Given the description of an element on the screen output the (x, y) to click on. 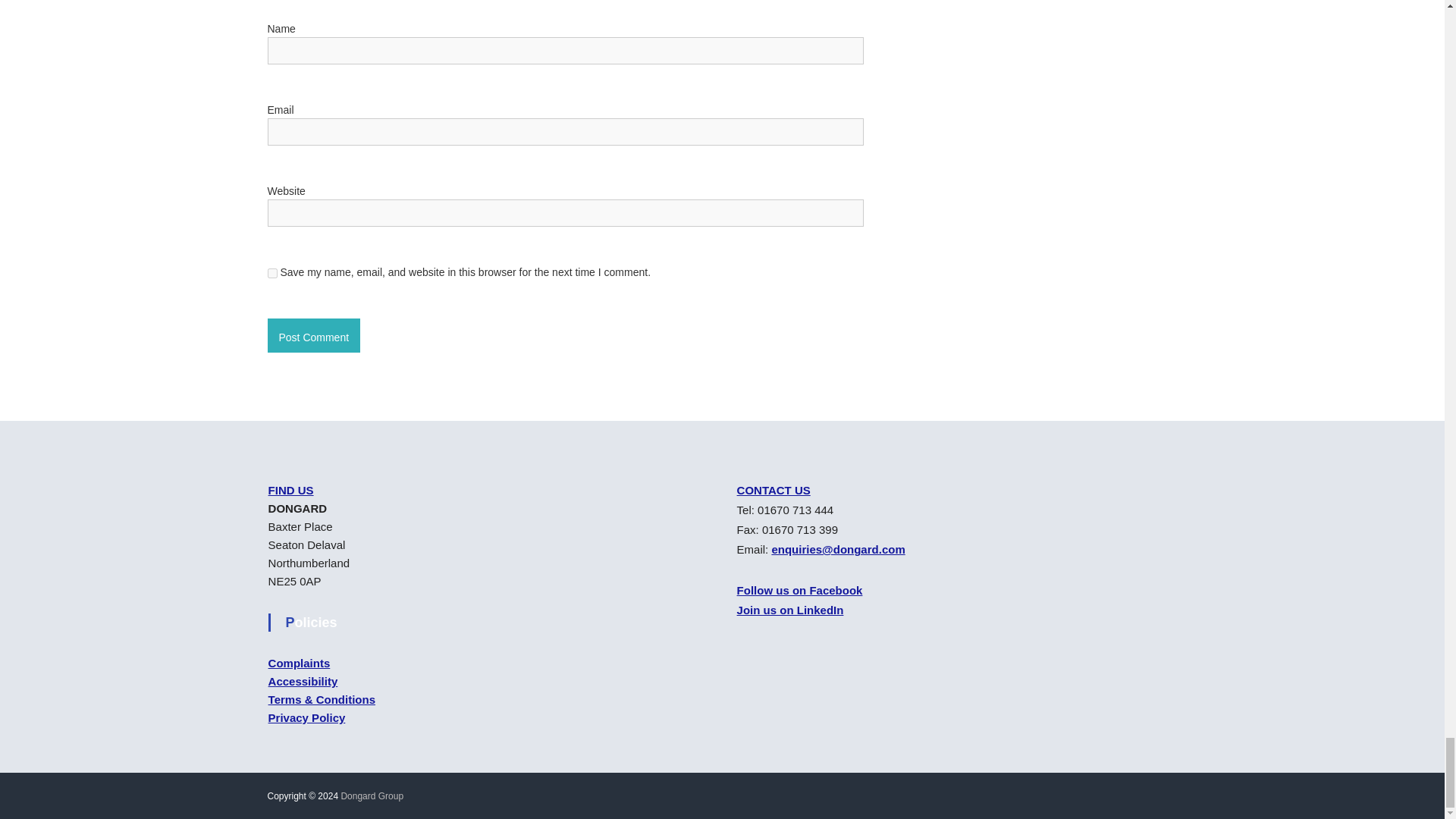
Privacy Policy (306, 717)
yes (271, 273)
Terms and Conditions (321, 698)
Accessibility Policy (302, 680)
Post Comment (312, 335)
